Given the description of an element on the screen output the (x, y) to click on. 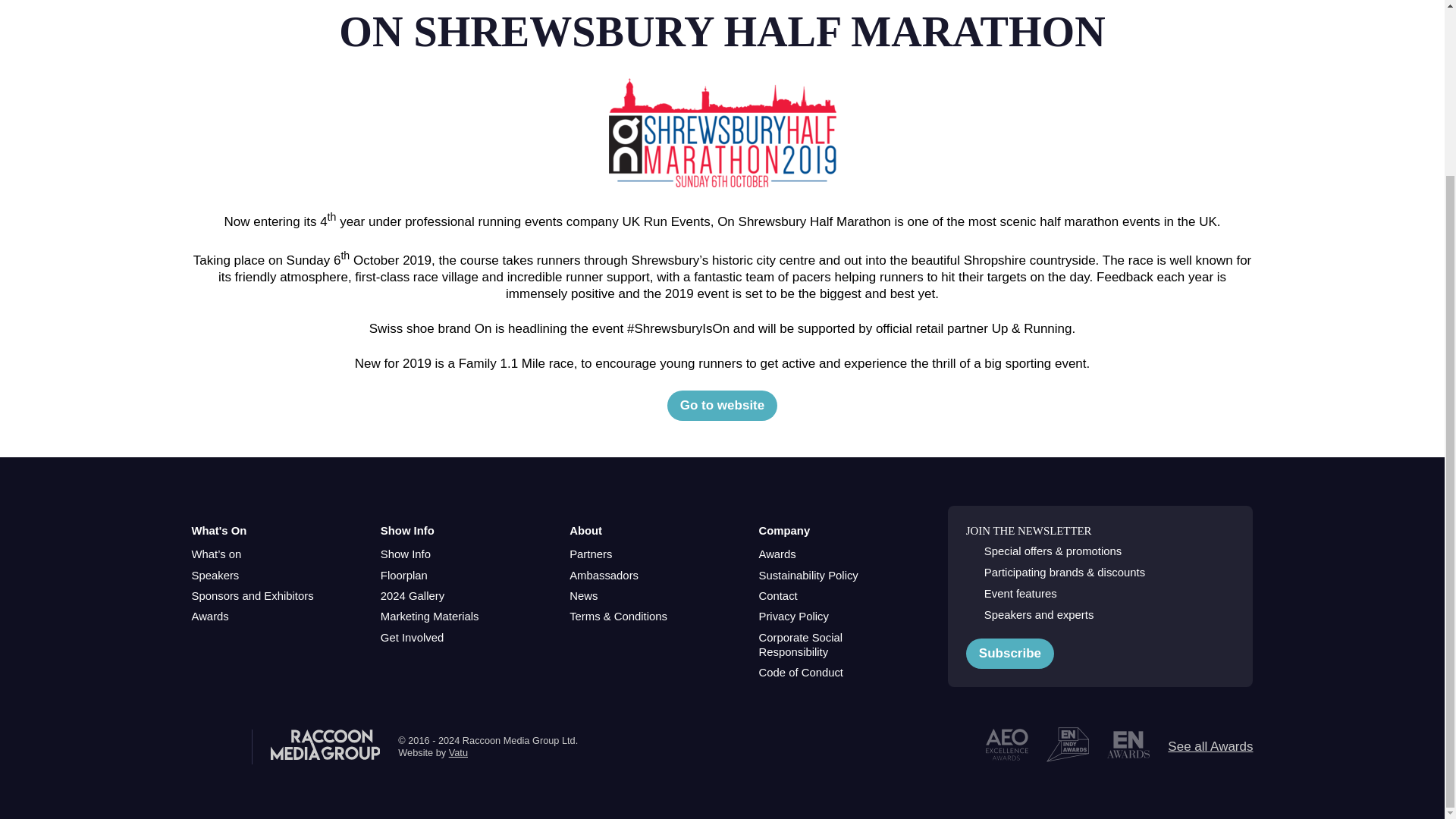
Partners (590, 554)
Sponsors and Exhibitors (251, 595)
Code of Conduct (800, 672)
Speakers (214, 575)
2024 Gallery (412, 595)
Go to website (721, 405)
Sustainability Policy (807, 575)
Floorplan (404, 575)
Privacy Policy (793, 616)
Ambassadors (604, 575)
Contact (777, 595)
News (582, 595)
Corporate Social Responsibility (834, 645)
Show Info (405, 554)
Get Involved (412, 637)
